Given the description of an element on the screen output the (x, y) to click on. 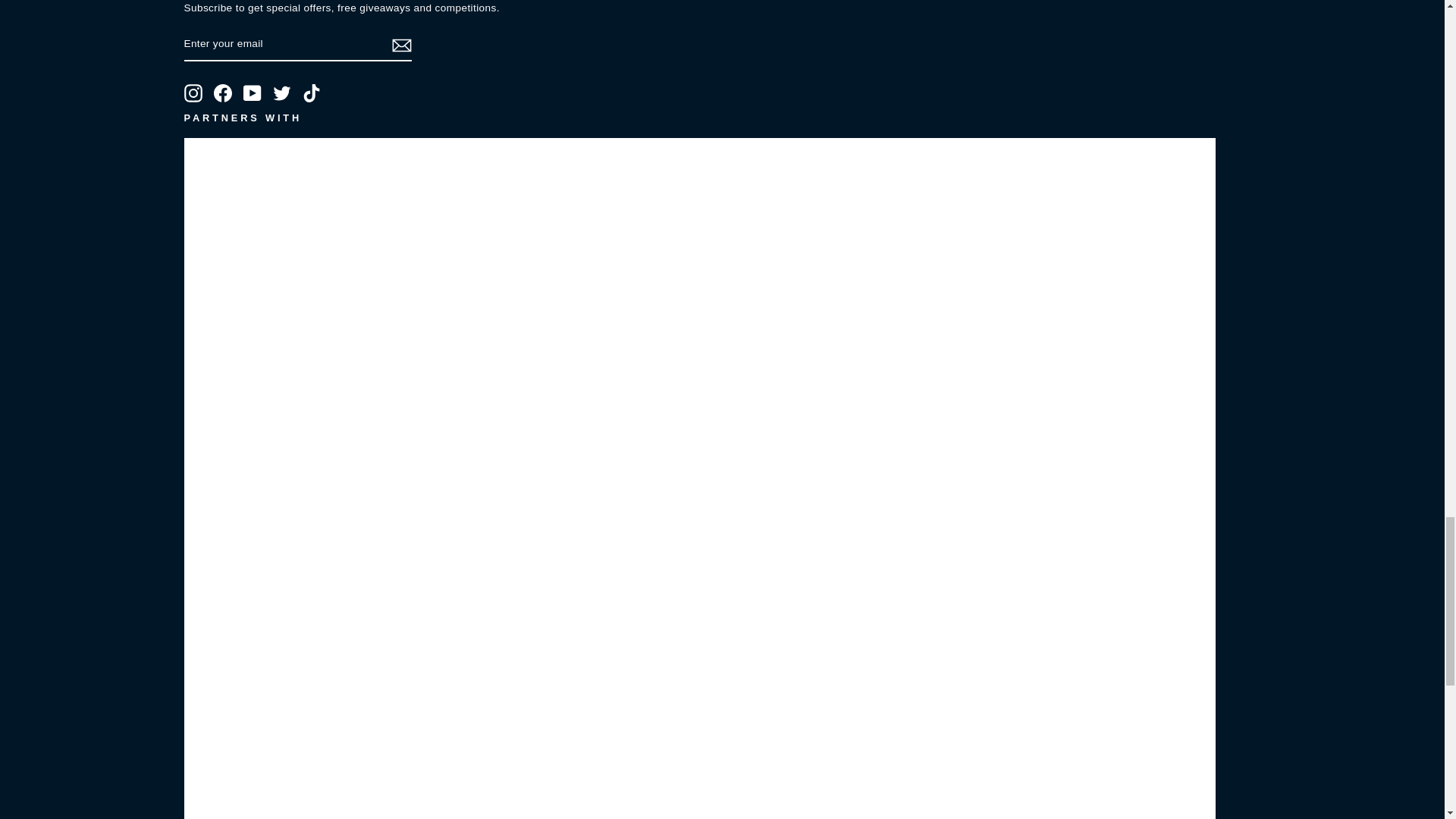
3StyleScooters on Facebook (222, 93)
instagram (192, 93)
twitter (282, 93)
icon-email (400, 45)
3StyleScooters on TikTok (310, 93)
3StyleScooters on Twitter (282, 93)
3StyleScooters on Instagram (192, 93)
3StyleScooters on YouTube (251, 93)
